Given the description of an element on the screen output the (x, y) to click on. 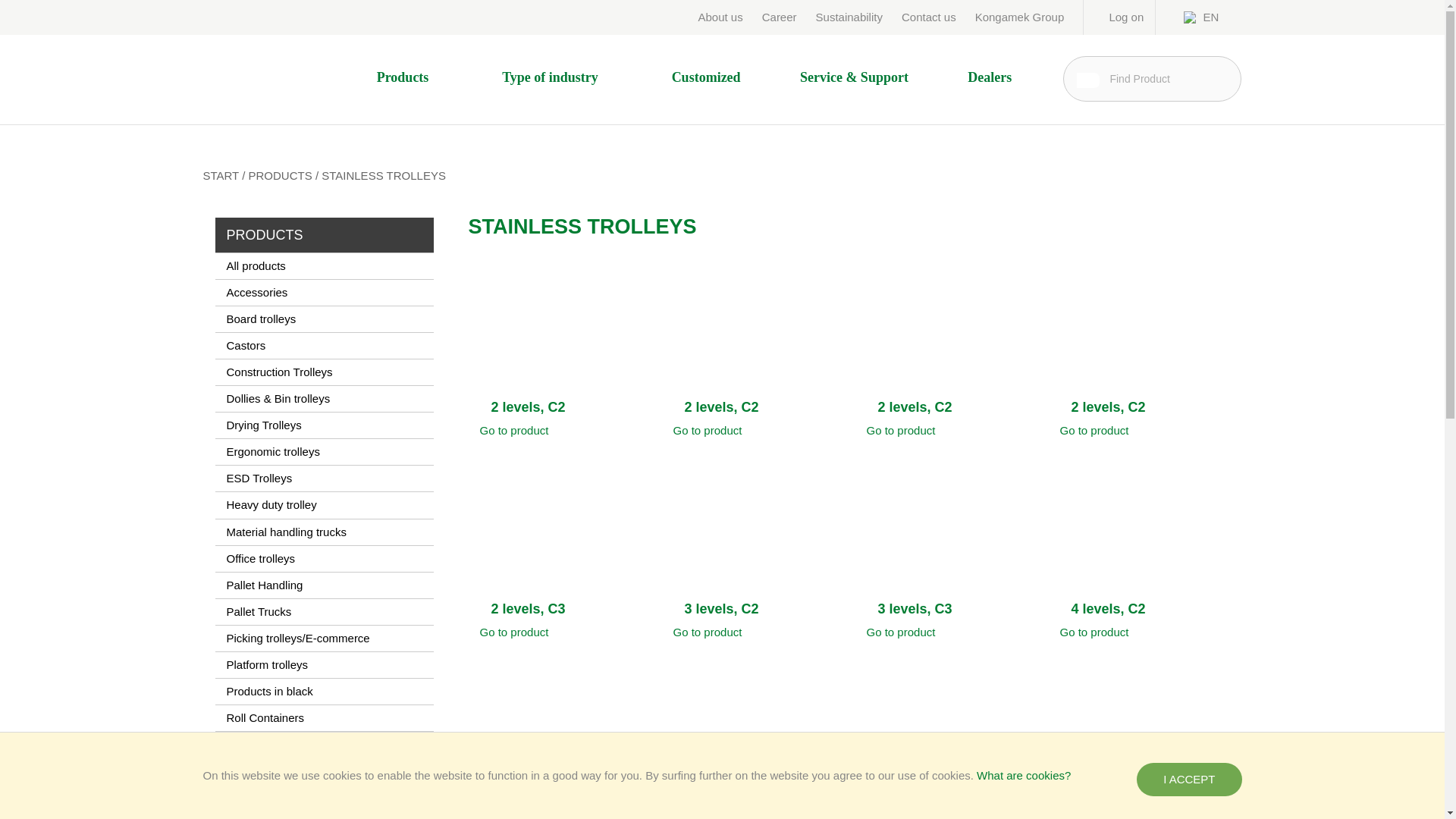
EN (1207, 18)
About us (719, 17)
Dealers (989, 77)
Find (1088, 79)
Contact us (928, 17)
Products (409, 77)
Career (778, 17)
What are cookies? (1023, 775)
Cookie (1023, 775)
Log on (1116, 17)
Customized (705, 77)
Sustainability (848, 17)
Kongamek Group (1019, 17)
I ACCEPT (1189, 779)
